Given the description of an element on the screen output the (x, y) to click on. 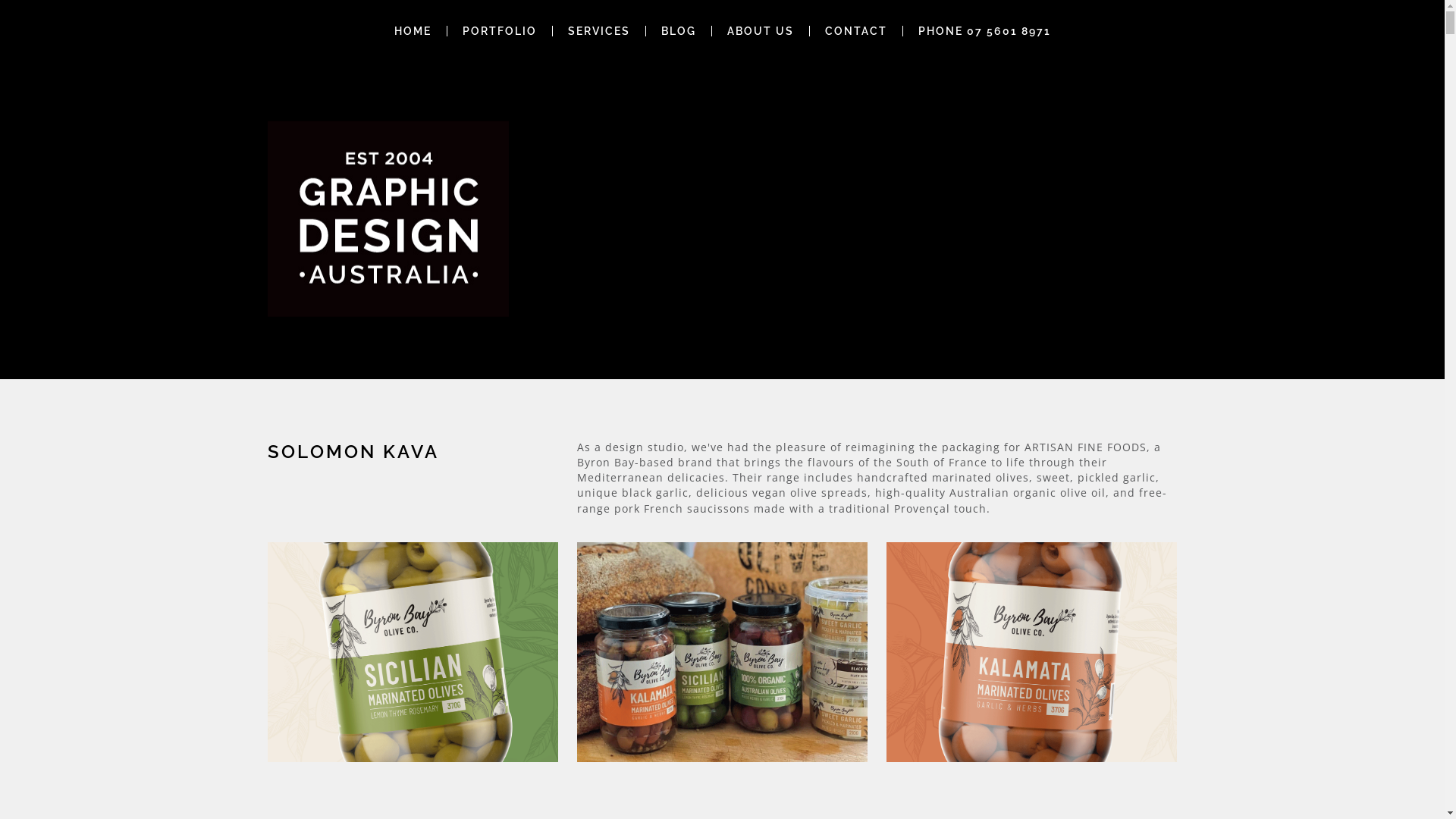
BLOG Element type: text (678, 30)
HOME Element type: text (412, 30)
PHONE 07 5601 8971 Element type: text (983, 30)
ABOUT US Element type: text (759, 30)
CONTACT Element type: text (856, 30)
Graphic Design Australia Element type: hover (387, 218)
SOLOMON KAVA Element type: text (353, 451)
PORTFOLIO Element type: text (499, 30)
